Given the description of an element on the screen output the (x, y) to click on. 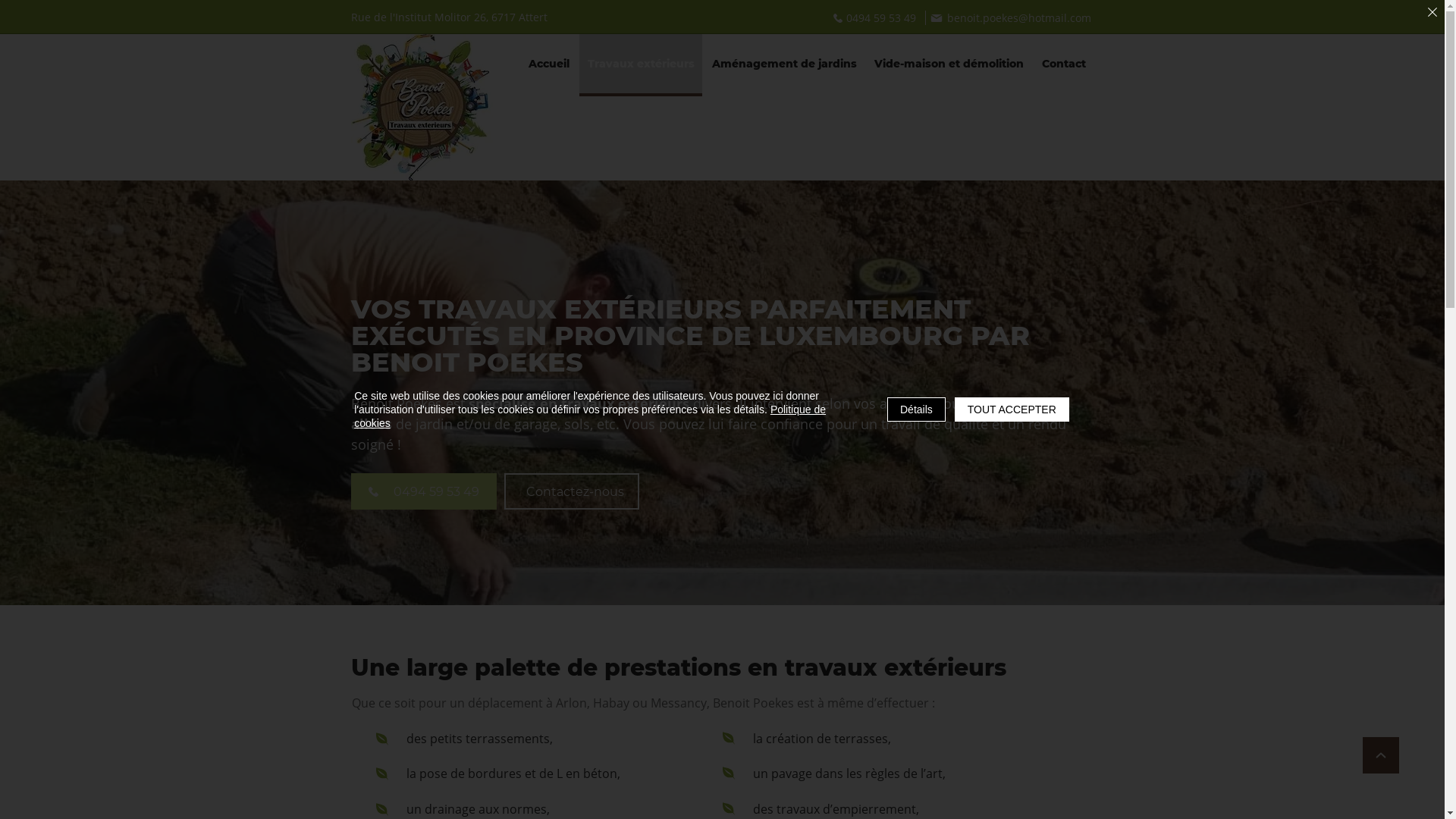
0494 59 53 49 Element type: text (422, 491)
0494 59 53 49 Element type: text (875, 17)
TOUT ACCEPTER Element type: text (1011, 409)
benoit.poekes@hotmail.com Element type: text (1010, 17)
Contact Element type: text (1063, 65)
Contactez-nous Element type: text (570, 491)
Politique de cookies Element type: text (589, 416)
Accueil Element type: text (548, 65)
